Given the description of an element on the screen output the (x, y) to click on. 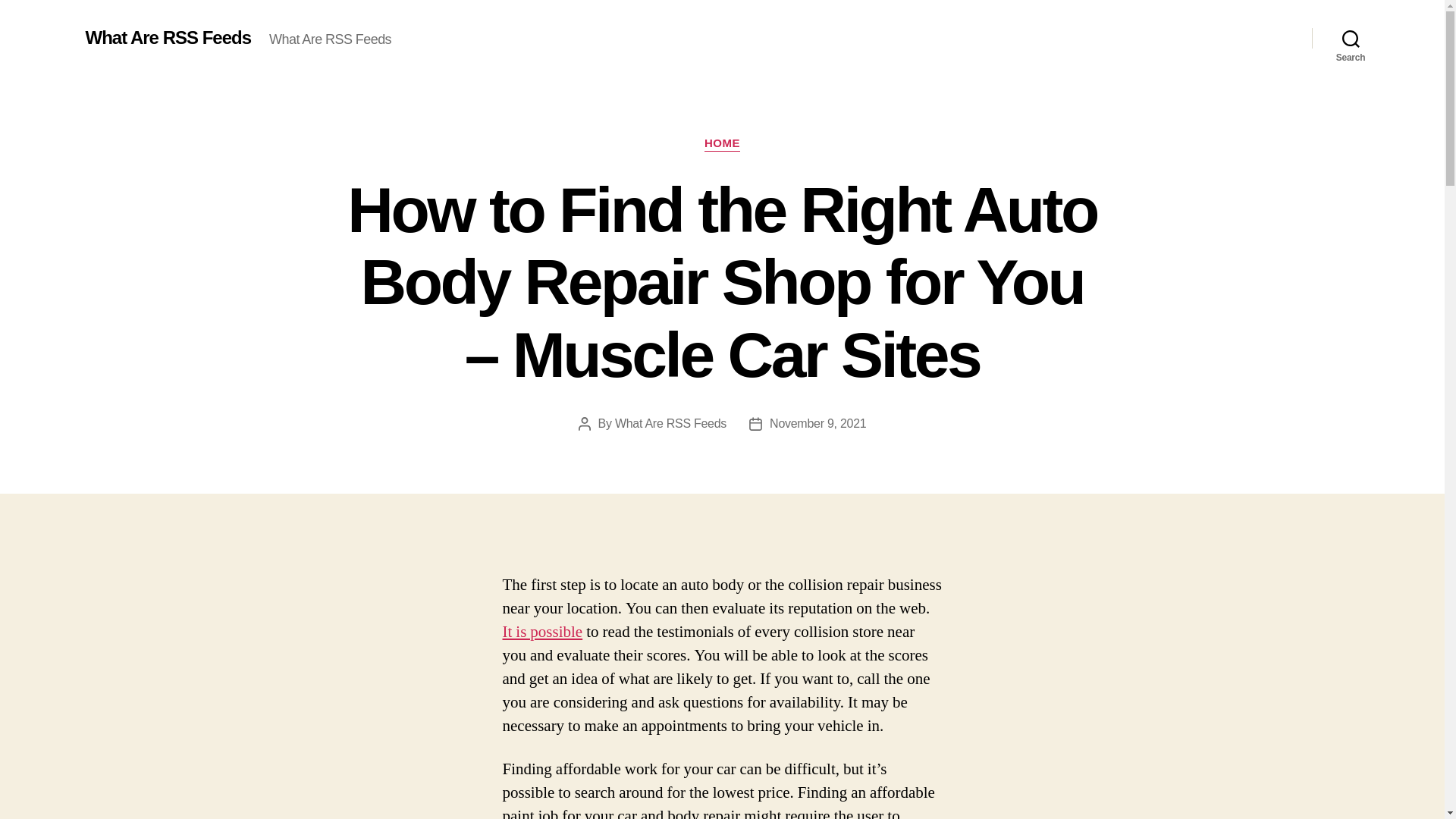
What Are RSS Feeds (670, 422)
November 9, 2021 (818, 422)
What Are RSS Feeds (167, 37)
Search (1350, 37)
HOME (721, 143)
It is possible (542, 631)
